Given the description of an element on the screen output the (x, y) to click on. 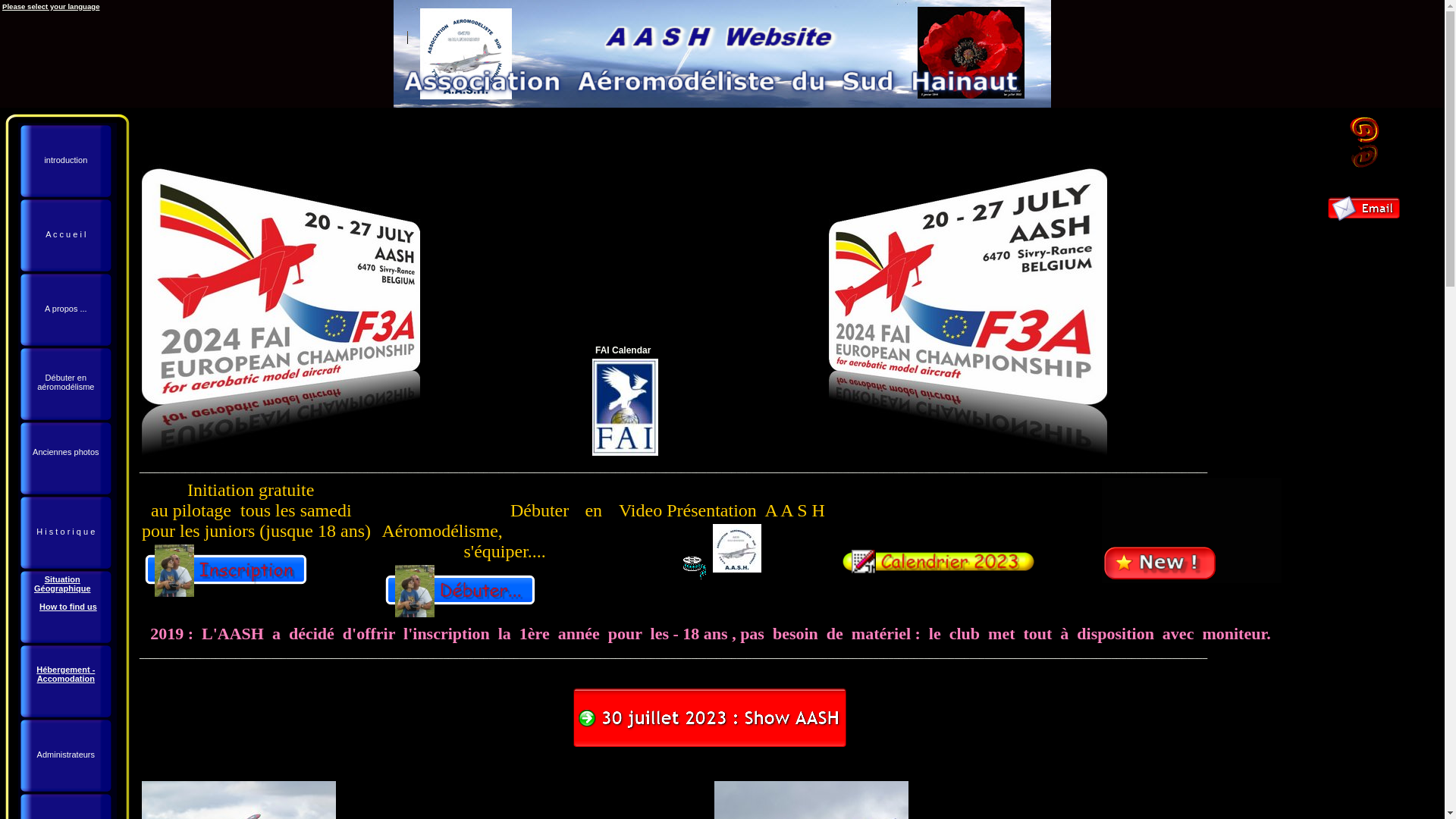
A c c u e i l Element type: text (65, 235)
introduction Element type: text (65, 161)
Administrateurs Element type: text (65, 755)
Anciennes photos Element type: text (65, 458)
FAI calendar Element type: hover (625, 406)
https://www.ec-f3a-2024.be/ Element type: hover (967, 309)
Calendrier AASH Element type: hover (937, 561)
https://www.ec-f3a-2024.be/ Element type: hover (280, 309)
Initiation au pilotage Element type: hover (226, 570)
New Element type: hover (1160, 563)
30 juillet 2023 : Show AASH Element type: hover (710, 717)
presentationAASH.mp4 Element type: hover (736, 548)
A propos ... Element type: text (65, 309)
H i s t o r i q u e Element type: text (65, 532)
